Given the description of an element on the screen output the (x, y) to click on. 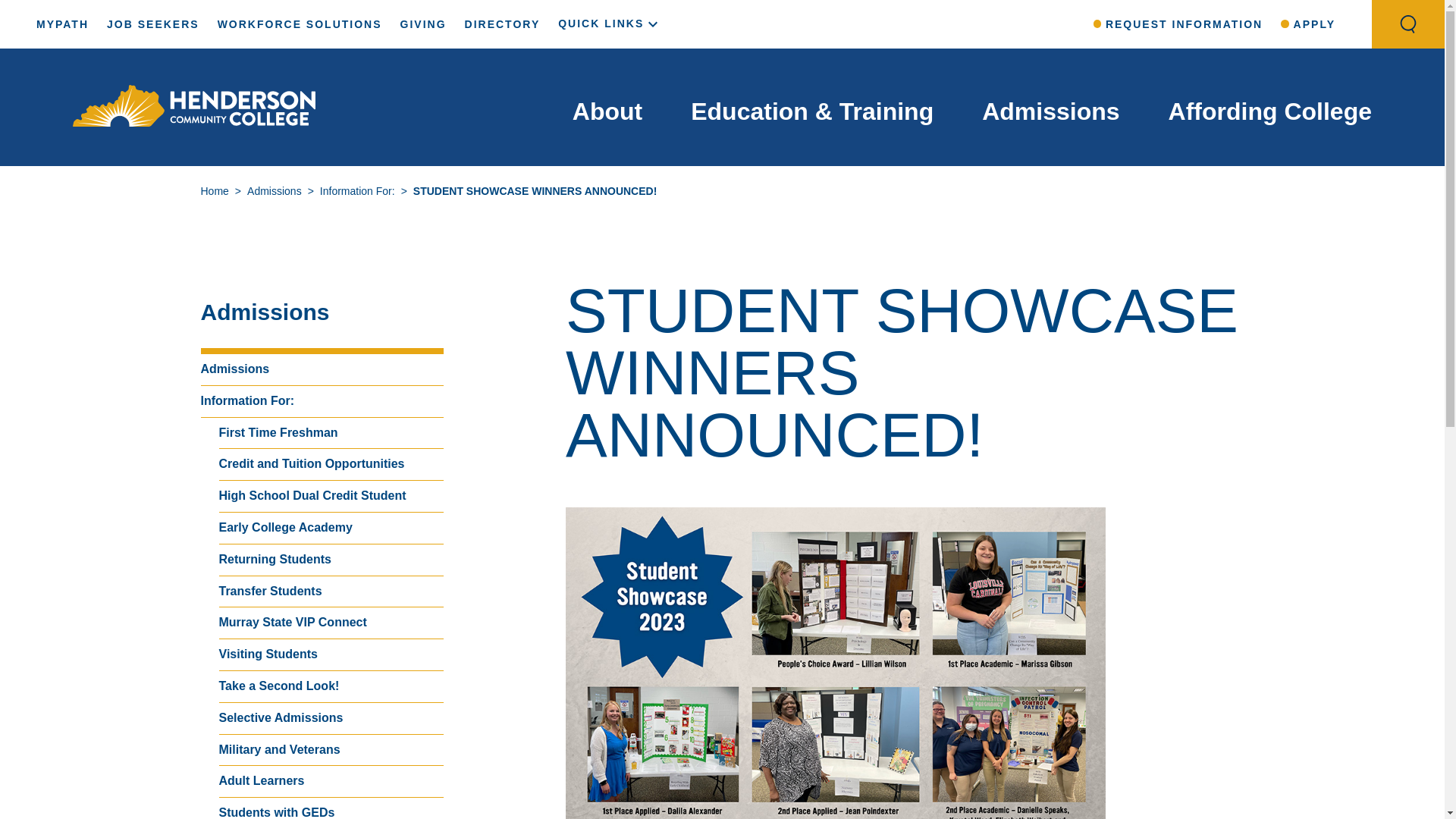
WORKFORCE SOLUTIONS (298, 23)
JOB SEEKERS (152, 23)
APPLY (1308, 24)
QUICK LINKS (609, 22)
REQUEST INFORMATION (1178, 24)
MYPATH (62, 23)
GIVING (423, 23)
DIRECTORY (502, 23)
